Given the description of an element on the screen output the (x, y) to click on. 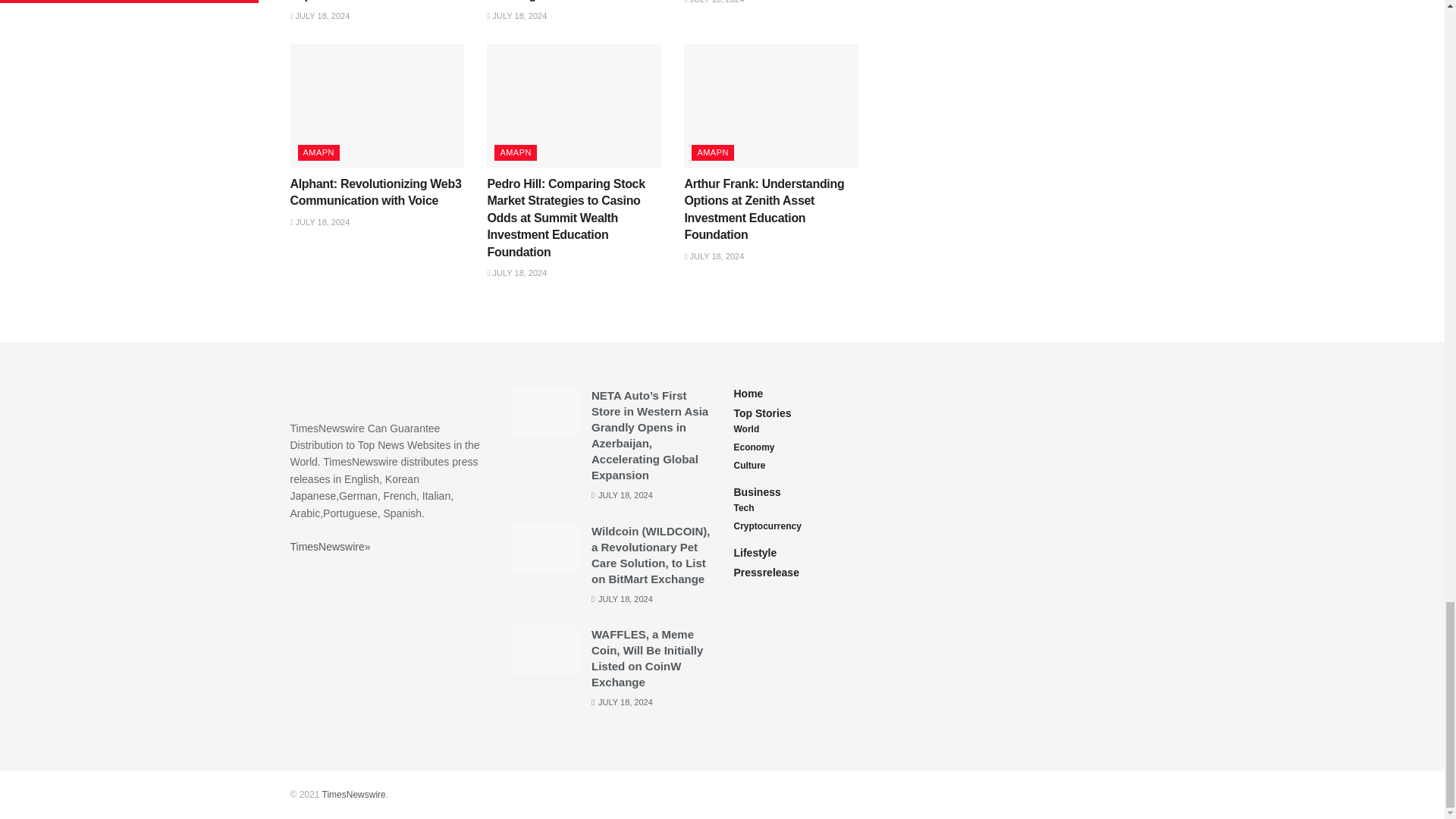
TimesNewswire (353, 794)
